Given the description of an element on the screen output the (x, y) to click on. 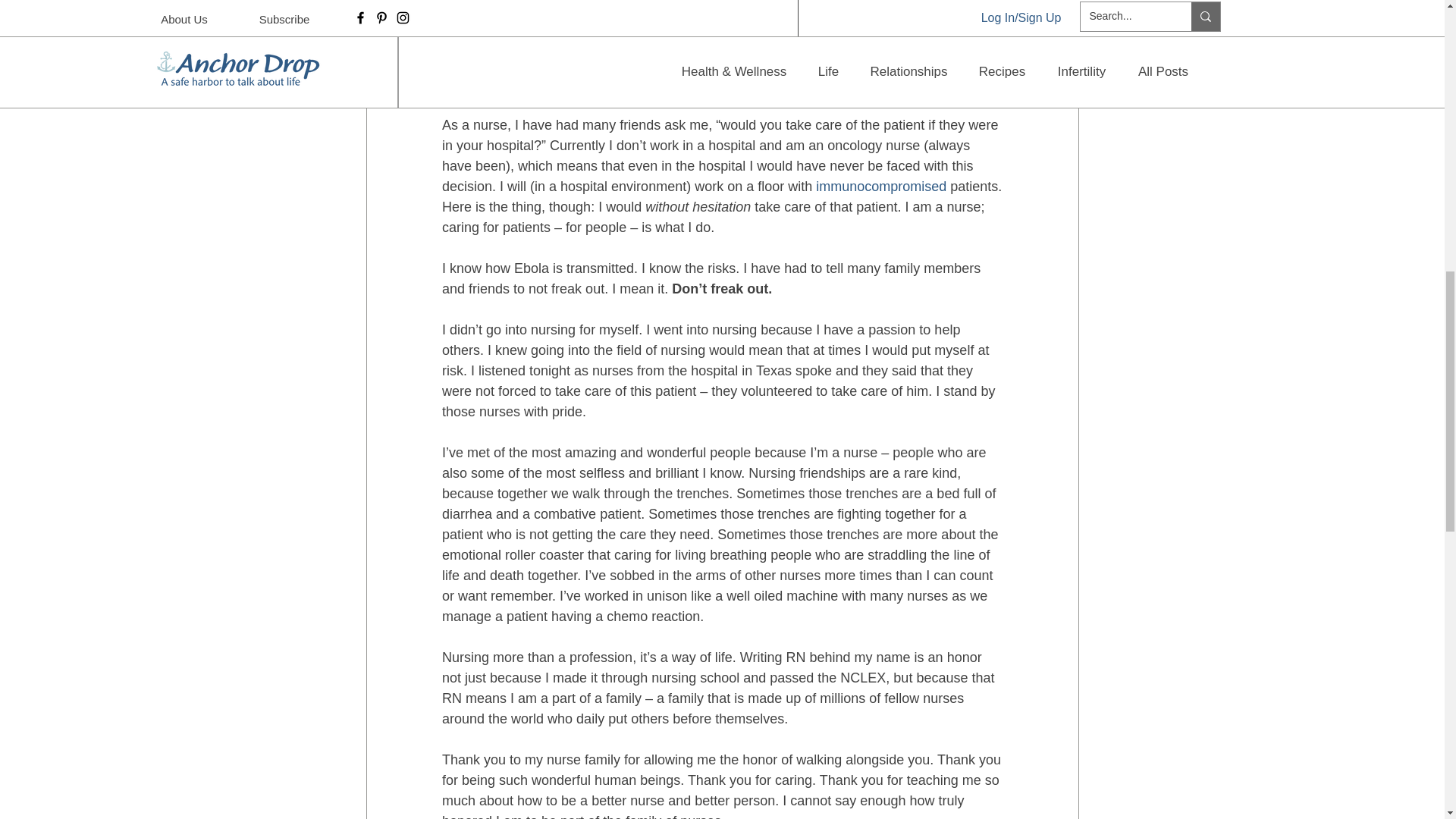
immunocompromised (880, 186)
